Given the description of an element on the screen output the (x, y) to click on. 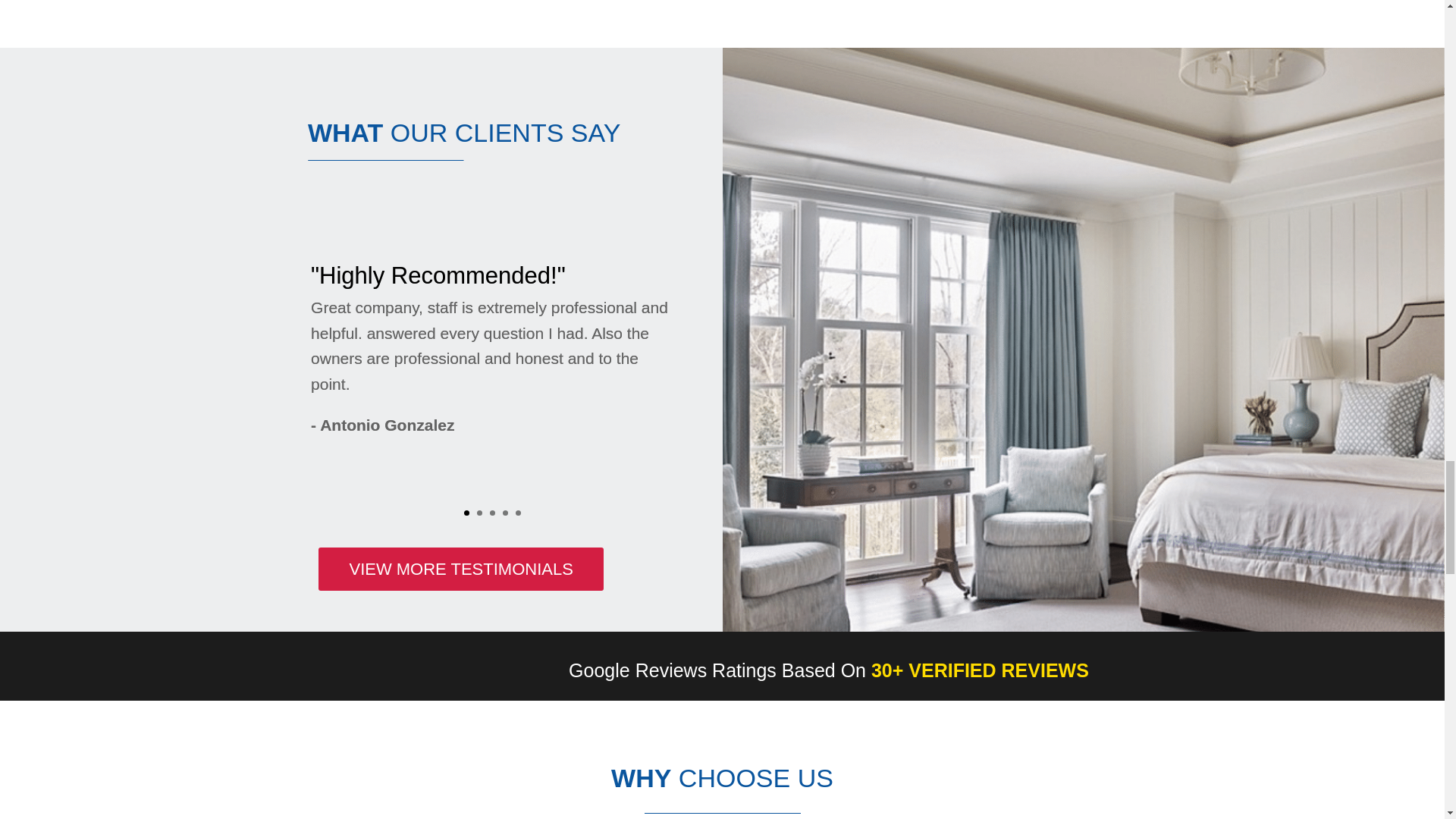
3 (492, 512)
